Given the description of an element on the screen output the (x, y) to click on. 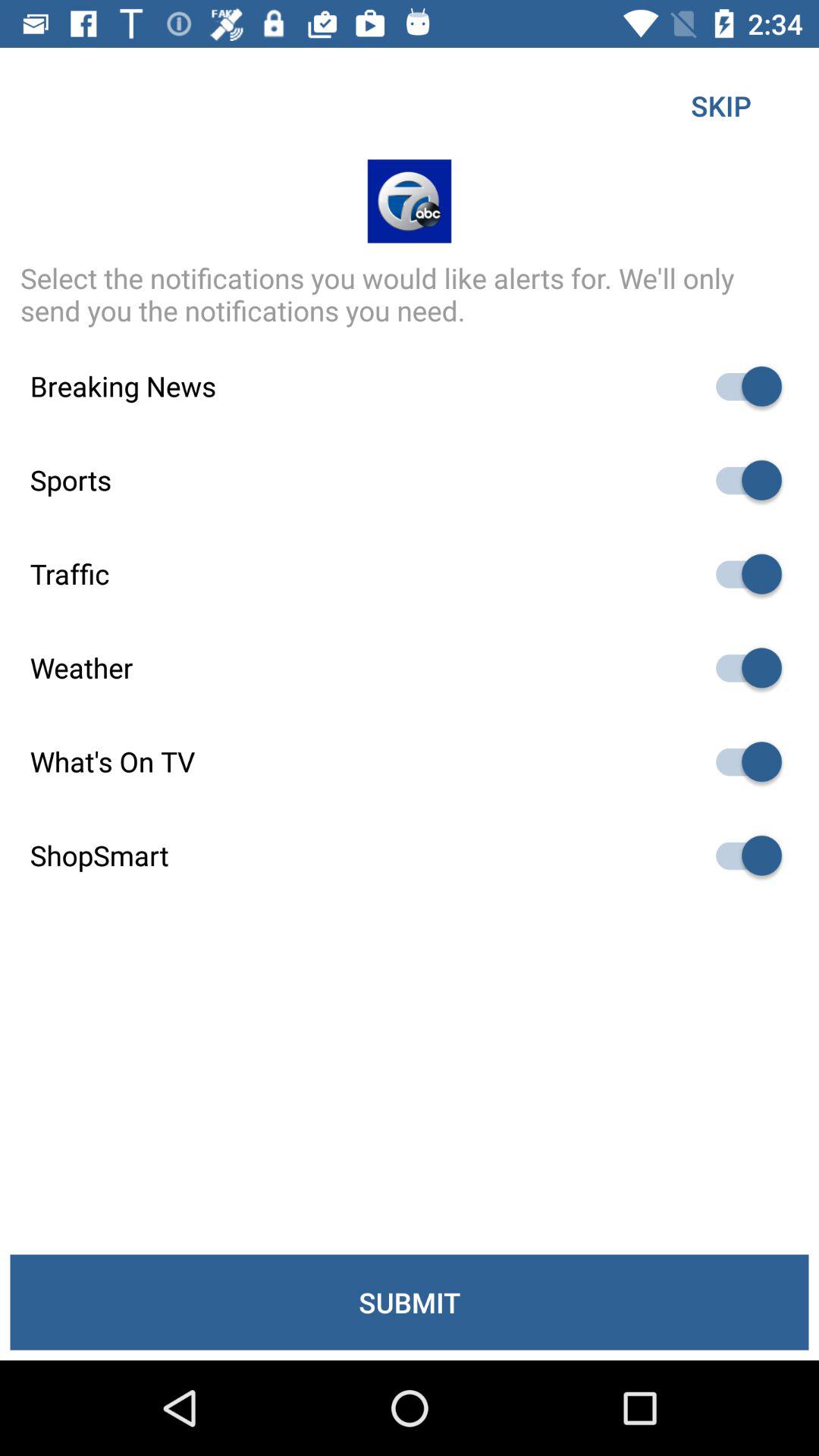
toggle autoplay option (741, 667)
